Given the description of an element on the screen output the (x, y) to click on. 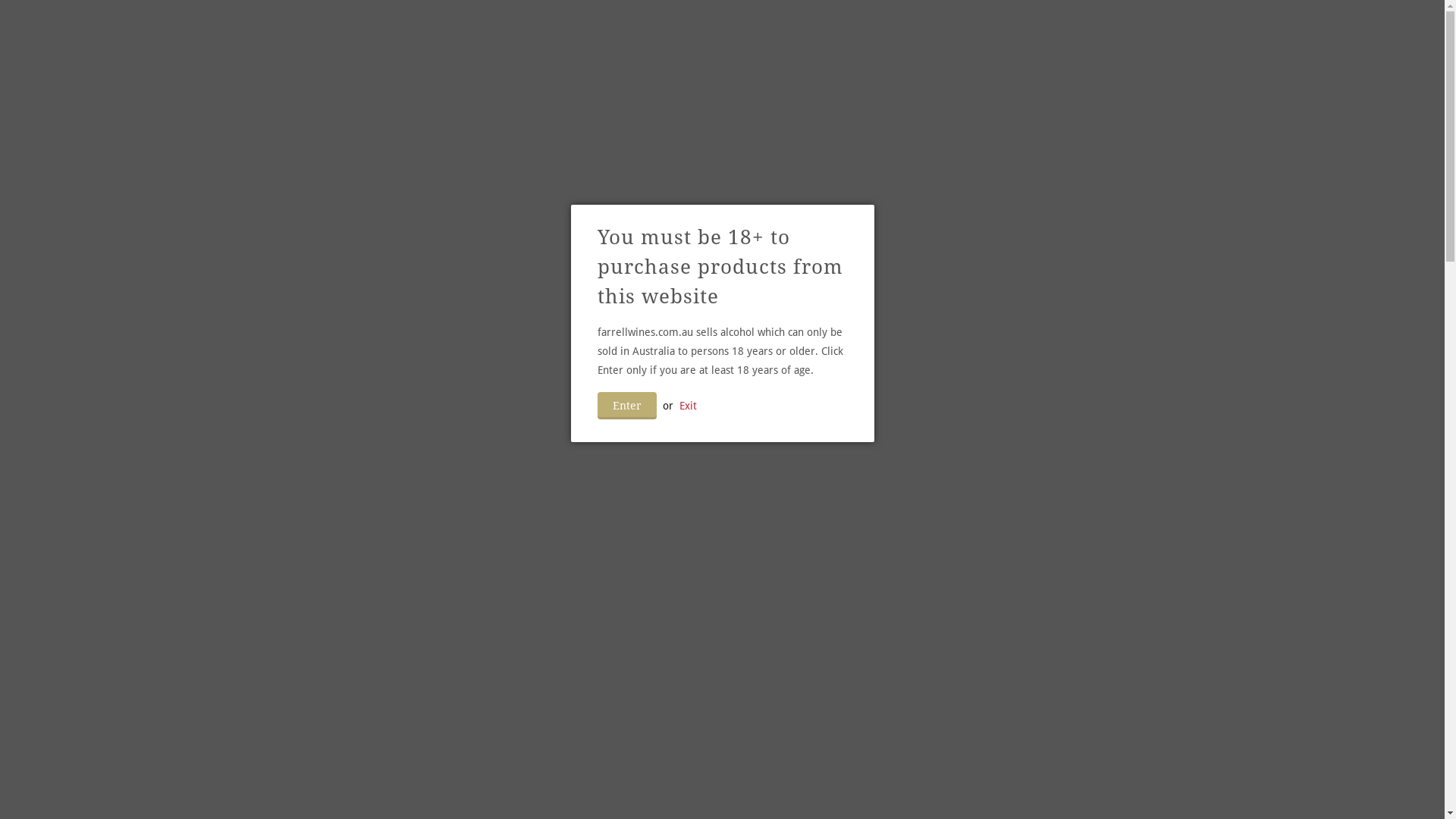
Summer Recipe | Pad Mee Korat + Riesling Element type: text (760, 218)
2018 The Godfather Too Release Event | Recap Element type: text (776, 324)
Enter Element type: text (626, 405)
Red Bridge Update Element type: text (655, 609)
Search Element type: hover (1067, 30)
Blog Element type: text (876, 31)
release of our 2018 Godfather Too Cabernet Element type: text (857, 450)
Cart Element type: text (1127, 29)
About Element type: text (671, 31)
Farrell Wines on Instagram Element type: hover (1008, 30)
2019 The Godfather Too Cabernet Release Element type: text (754, 111)
Farrell Wines Element type: hover (380, 32)
2018 Godfather Too Cabernet Release Element type: text (736, 411)
My Account  Element type: hover (1038, 30)
Farrell Wines on Facebook Element type: hover (979, 30)
Home Element type: text (617, 31)
Exit Element type: text (687, 405)
Spring Time at Farrell Wines Element type: text (699, 792)
Contact Element type: text (931, 31)
Farrell Wines Blog Element type: text (367, 70)
